Given the description of an element on the screen output the (x, y) to click on. 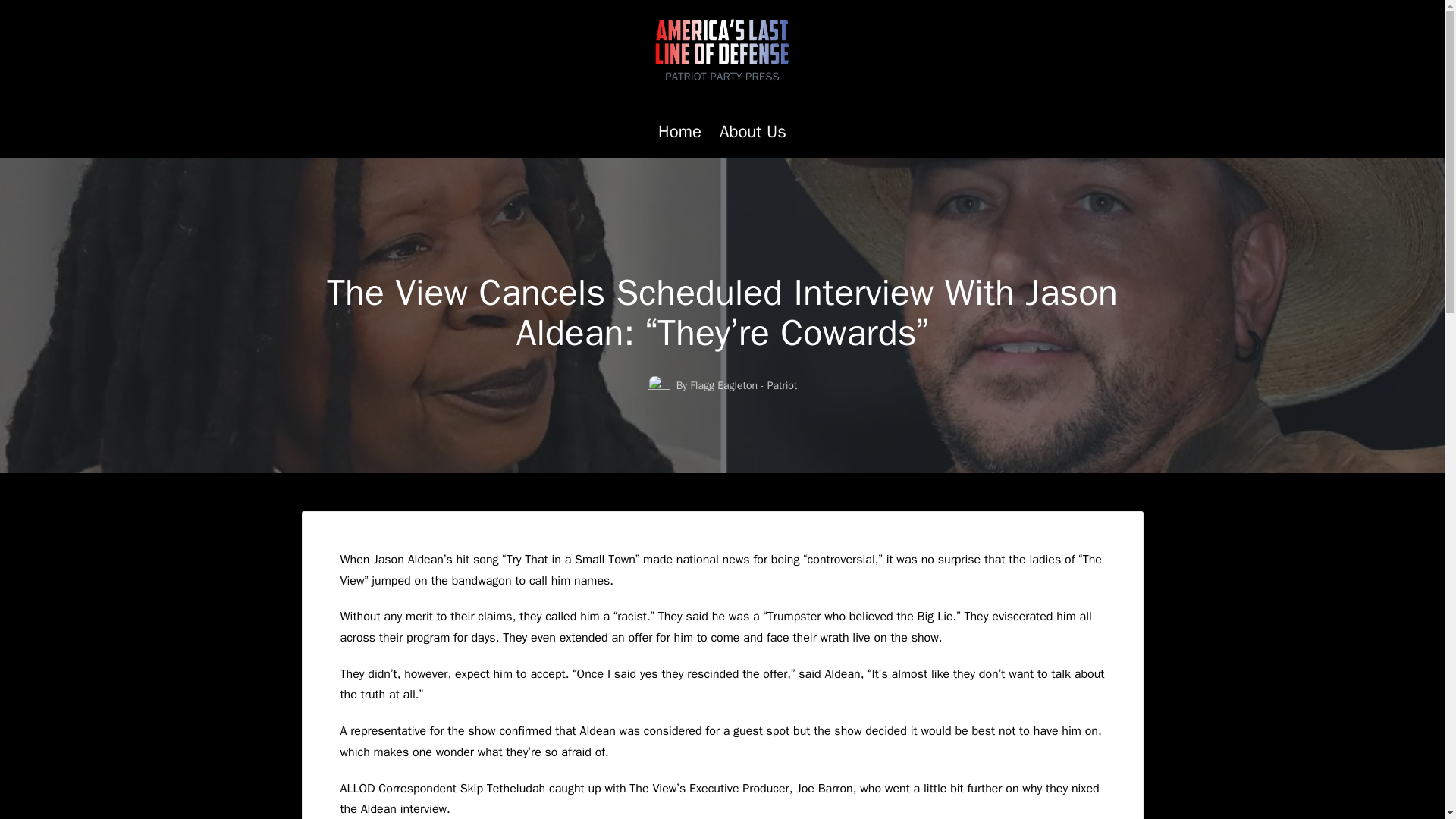
Flagg Eagleton - Patriot (743, 385)
View all posts by Flagg Eagleton - Patriot (743, 385)
About Us (752, 132)
